Given the description of an element on the screen output the (x, y) to click on. 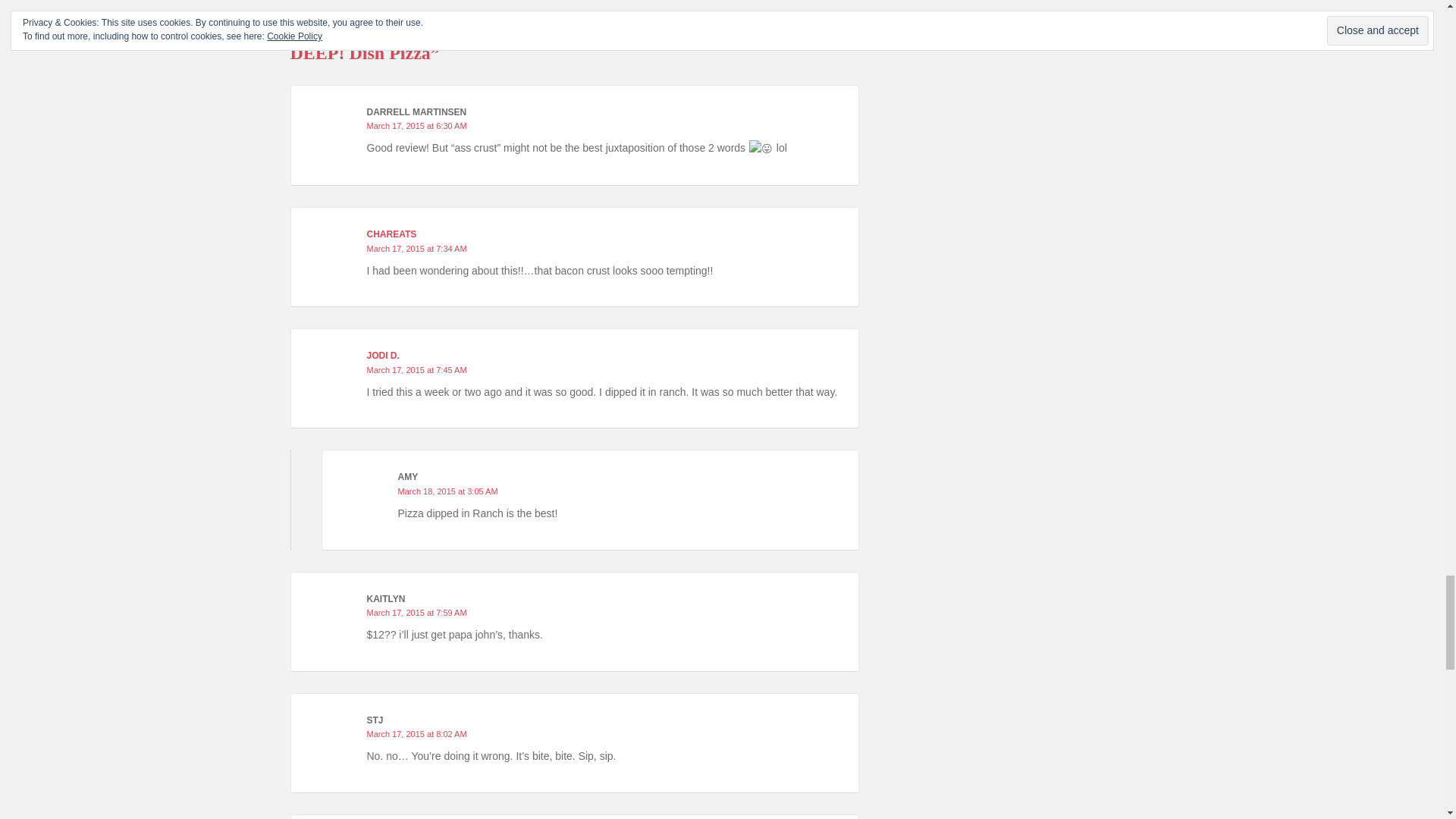
JODI D. (382, 355)
March 17, 2015 at 6:30 AM (416, 125)
CHAREATS (391, 234)
March 18, 2015 at 3:05 AM (447, 491)
March 17, 2015 at 7:59 AM (416, 612)
March 17, 2015 at 7:34 AM (416, 248)
March 17, 2015 at 7:45 AM (416, 369)
March 17, 2015 at 8:02 AM (416, 733)
